Given the description of an element on the screen output the (x, y) to click on. 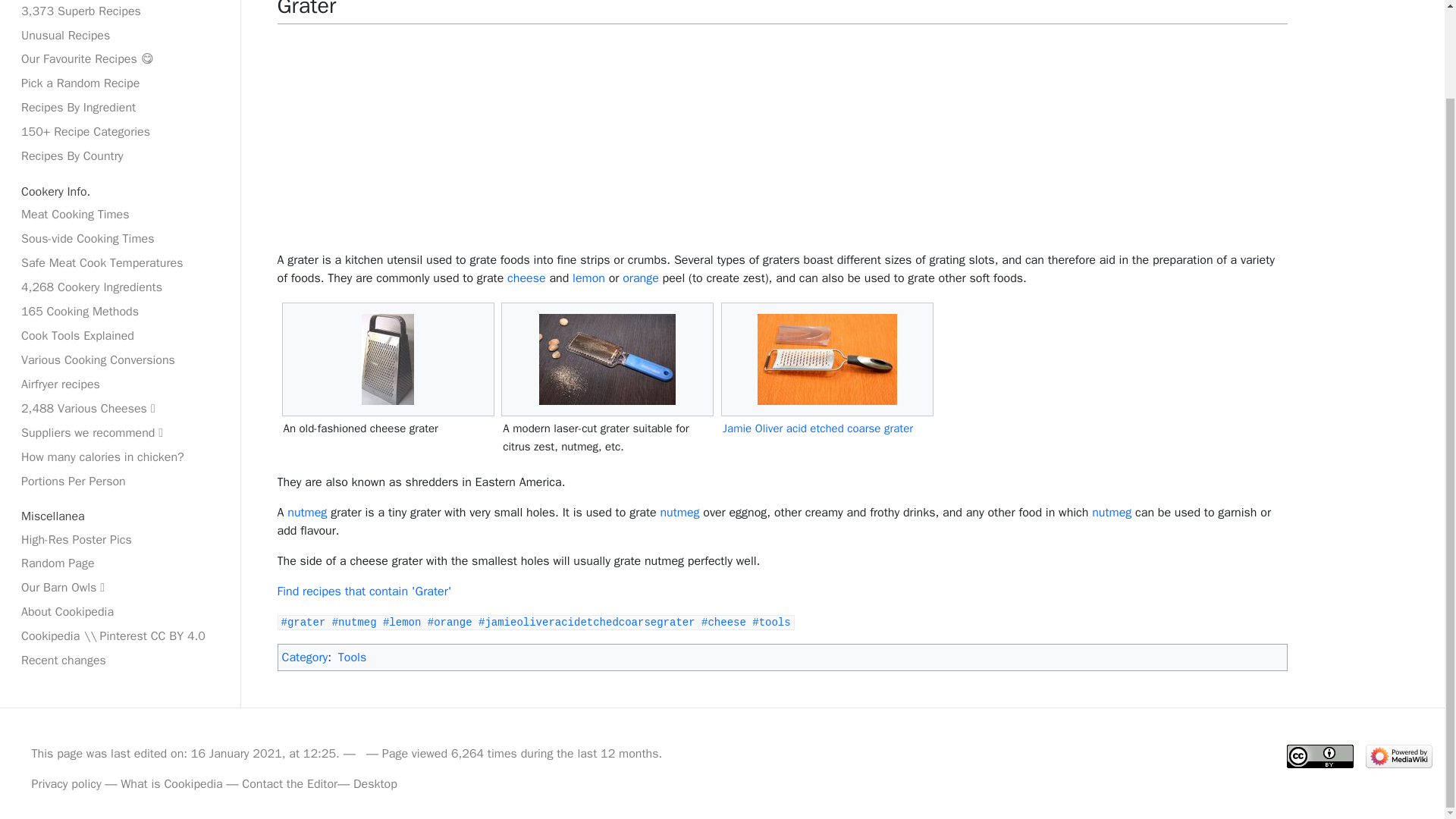
Cheese (525, 278)
Meat Cooking Times (119, 214)
Miscellanea (119, 516)
Recipes By Country (119, 155)
Unusual Recipes (119, 34)
Recent changes (119, 660)
Various Cooking Conversions (119, 359)
Recipes By Ingredient (119, 107)
High-Res Poster Pics (119, 538)
About Cookipedia (119, 611)
How many calories in chicken? (119, 456)
Pick a Random Recipe (119, 83)
Sous-vide Cooking Times (119, 238)
Cookery Info. (119, 191)
Airfryer recipes (119, 384)
